Given the description of an element on the screen output the (x, y) to click on. 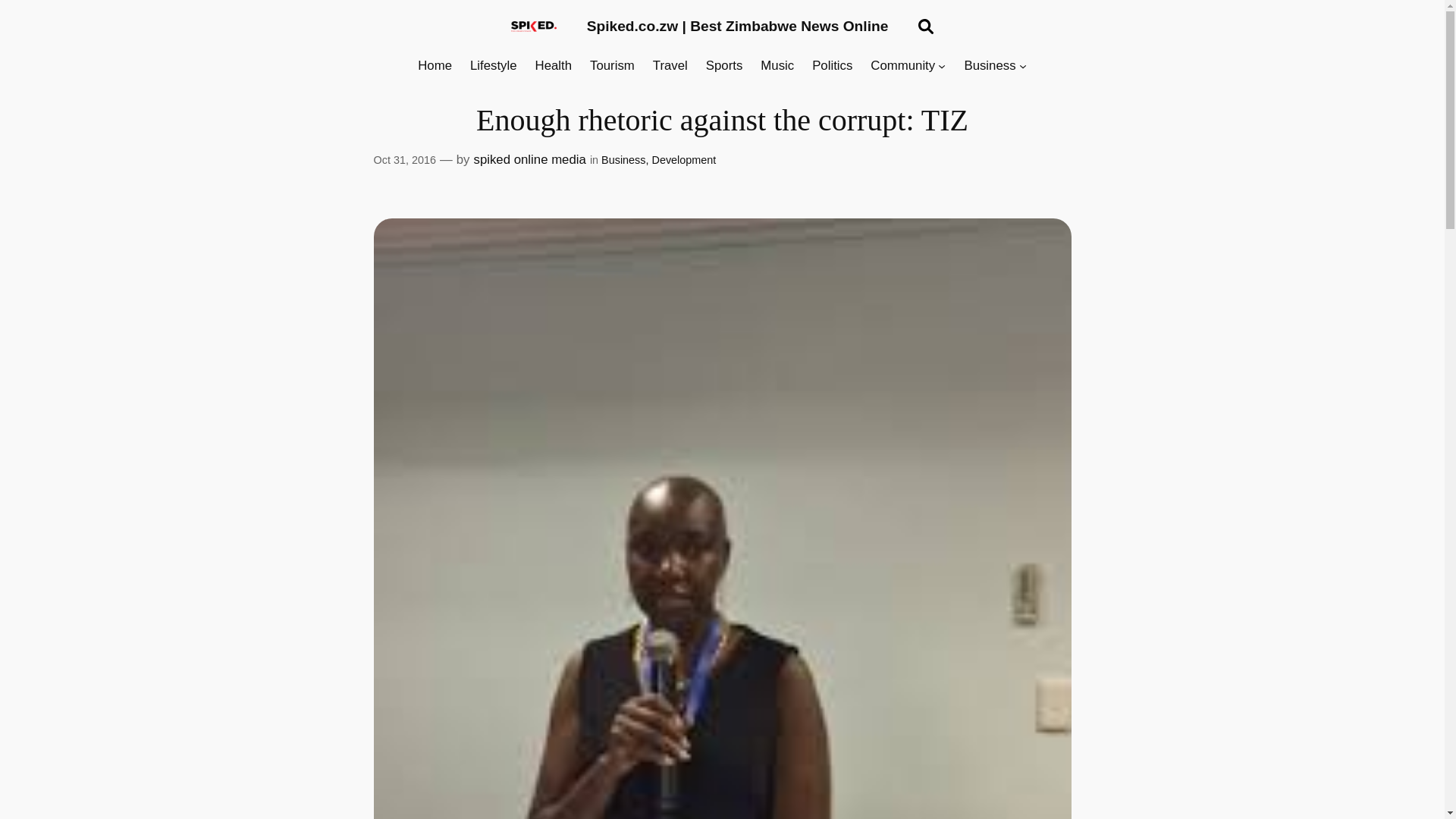
Oct 31, 2016 (403, 159)
Lifestyle (493, 66)
Development (683, 159)
Politics (831, 66)
Home (434, 66)
Community (902, 66)
Travel (669, 66)
Business (988, 66)
Health (553, 66)
Sports (724, 66)
Business (623, 159)
Tourism (611, 66)
Music (776, 66)
